Given the description of an element on the screen output the (x, y) to click on. 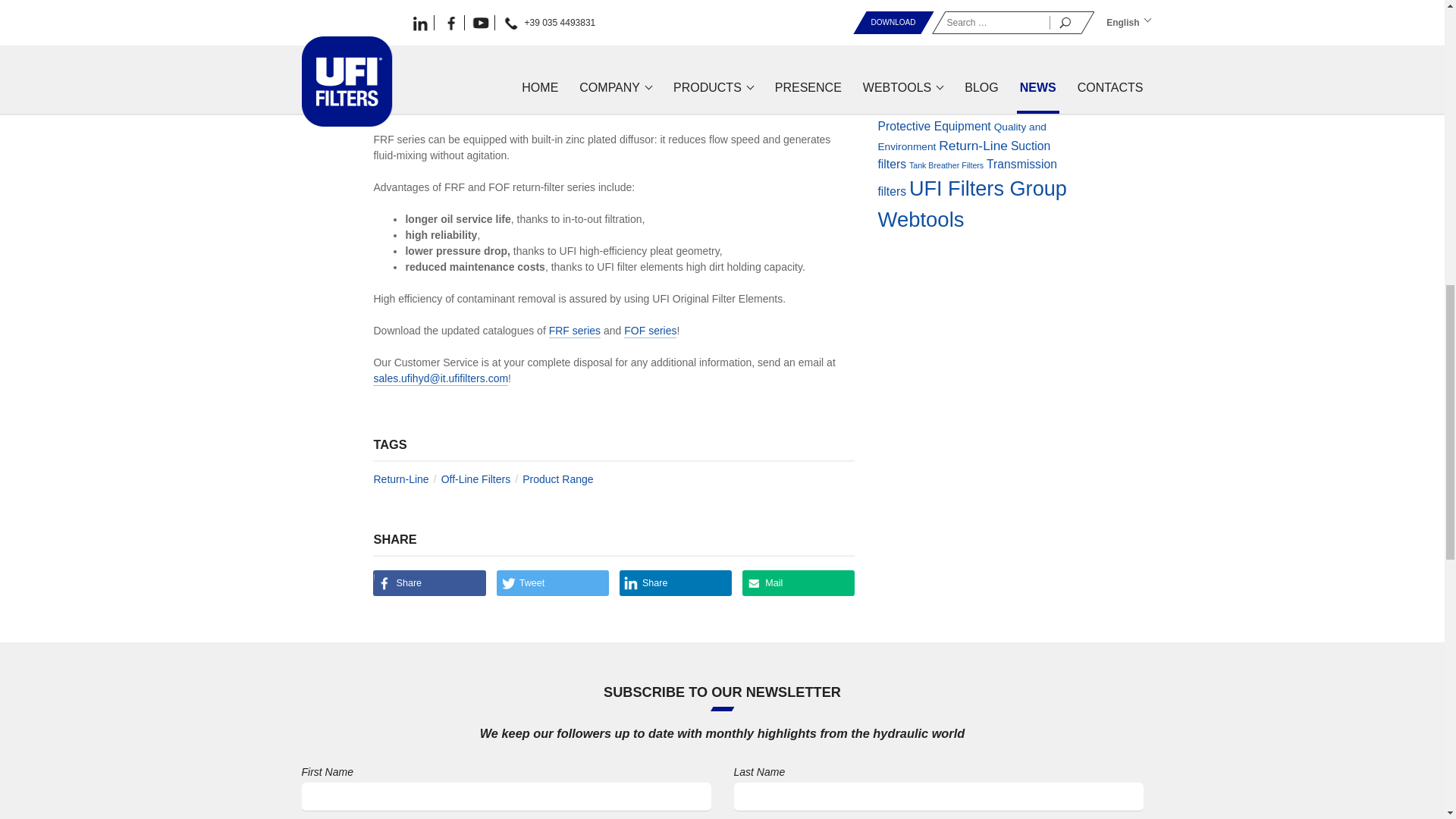
Share news via email (798, 583)
Share news on facebook (428, 583)
tweet news on Twitter (552, 583)
share news on LinkedIn (676, 583)
